Given the description of an element on the screen output the (x, y) to click on. 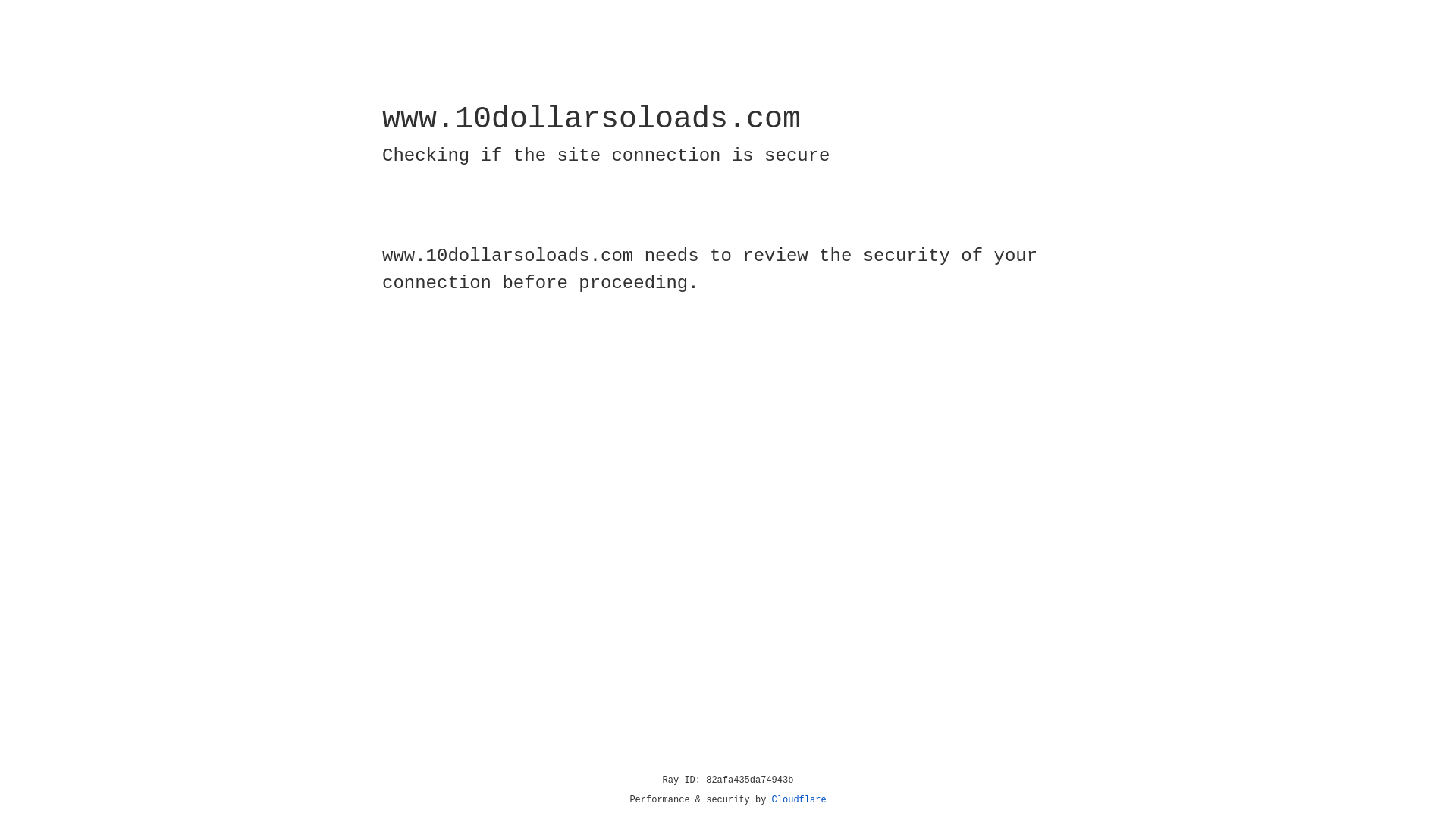
Cloudflare Element type: text (798, 799)
